Given the description of an element on the screen output the (x, y) to click on. 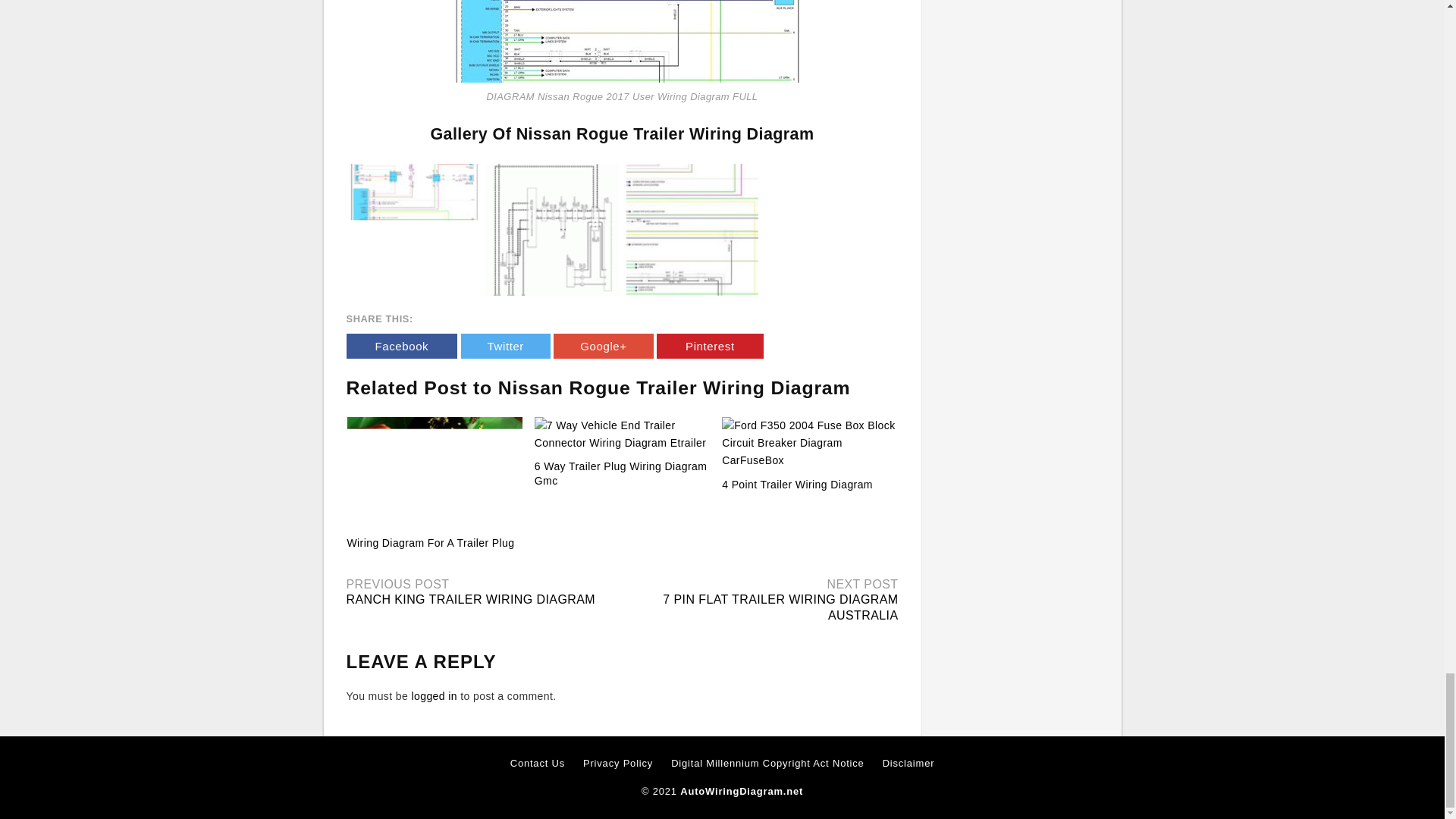
DIAGRAM Nissan Rogue 2017 User Wiring Diagram FULL (622, 41)
Nissan Rogue Wiring Diagram Collection Wiring Diagram Sample (552, 229)
Wiring Diagram For A Trailer Plug (434, 472)
2015 Nissan Rogue Trailer Wiring Harness Pictures Wiring (412, 229)
DIAGRAM Nissan Rogue 2017 User Wiring Diagram FULL (692, 229)
Twitter (505, 345)
logged in (434, 695)
Pinterest (709, 345)
RANCH KING TRAILER WIRING DIAGRAM (470, 599)
Facebook (401, 345)
Nissan Rogue Wiring Diagram Collection Wiring Diagram Sample (552, 228)
7 PIN FLAT TRAILER WIRING DIAGRAM AUSTRALIA (780, 606)
4 Point Trailer Wiring Diagram (797, 484)
DIAGRAM Nissan Rogue 2017 User Wiring Diagram FULL (692, 228)
6 Way Trailer Plug Wiring Diagram Gmc (620, 473)
